Given the description of an element on the screen output the (x, y) to click on. 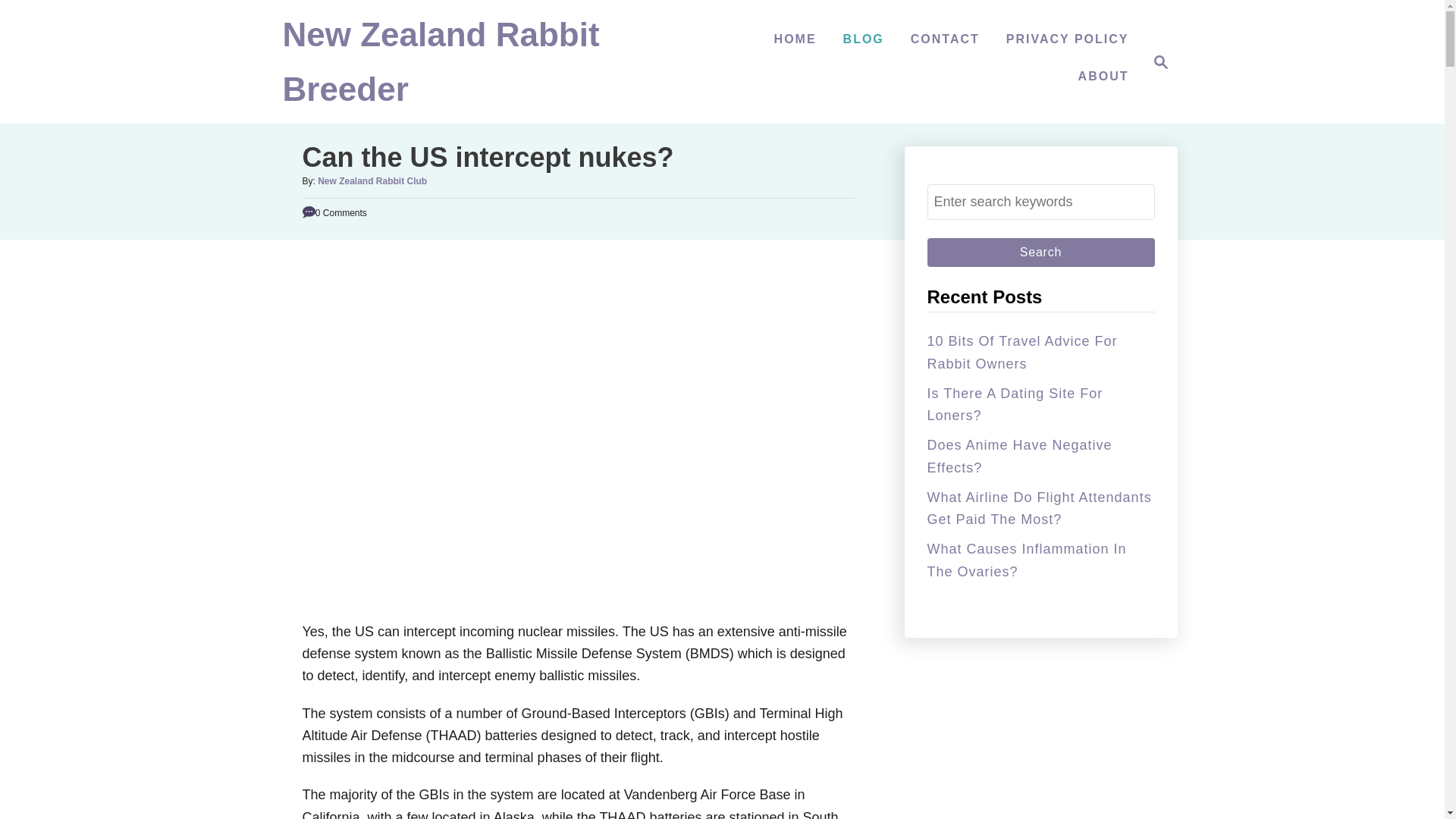
Search (1040, 252)
New Zealand Rabbit Breeder (440, 69)
Search (1040, 252)
PRIVACY POLICY (1067, 39)
HOME (795, 39)
Magnifying Glass (1160, 62)
ABOUT (1103, 76)
Search (1040, 252)
New Zealand Rabbit Breeder (440, 69)
Is There A Dating Site For Loners? (1014, 404)
10 Bits Of Travel Advice For Rabbit Owners (1021, 352)
BLOG (863, 39)
New Zealand Rabbit Club (371, 181)
